Given the description of an element on the screen output the (x, y) to click on. 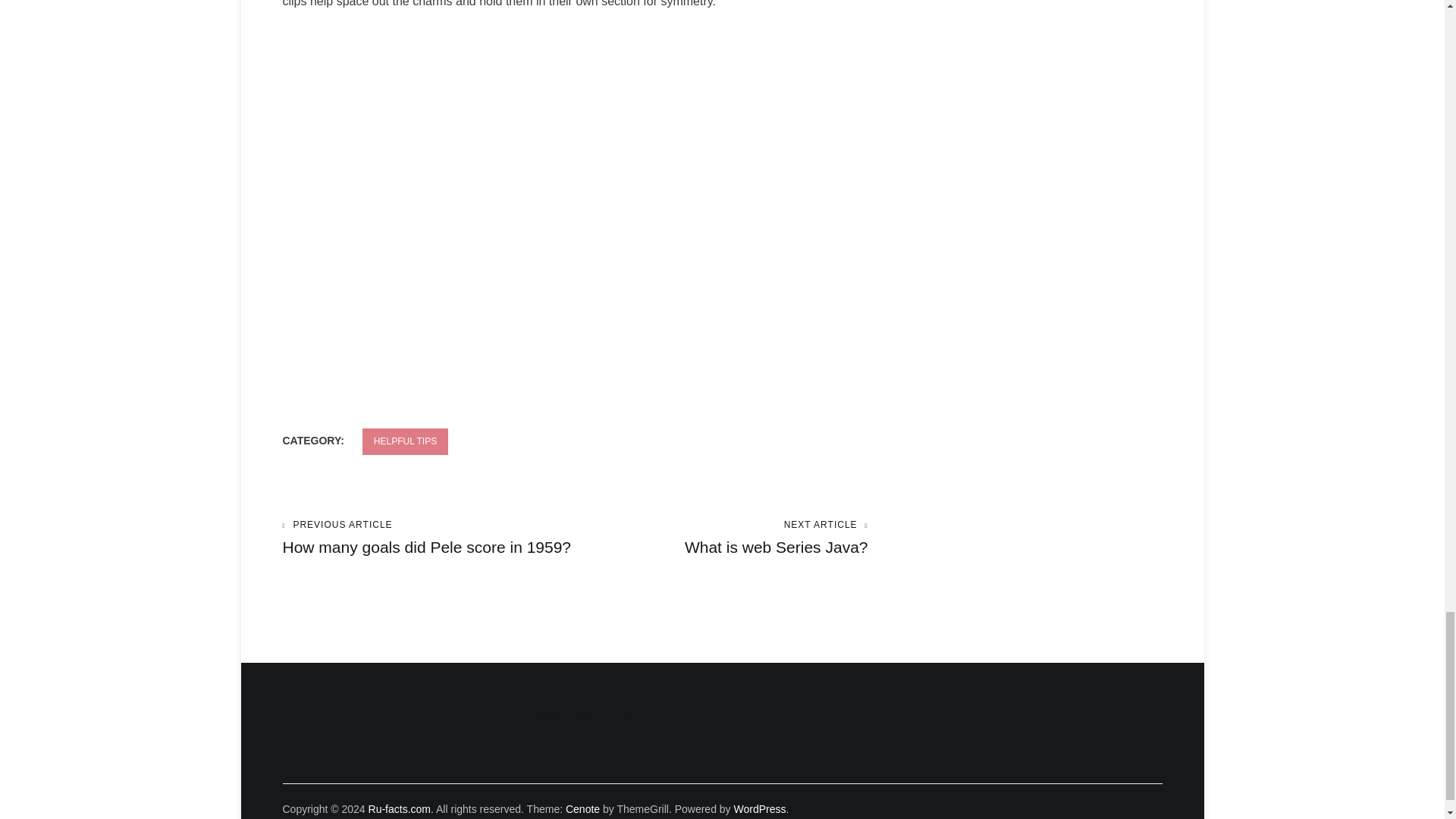
How To Make Jewelry: All About Clasps (721, 537)
HELPFUL TIPS (399, 808)
